Given the description of an element on the screen output the (x, y) to click on. 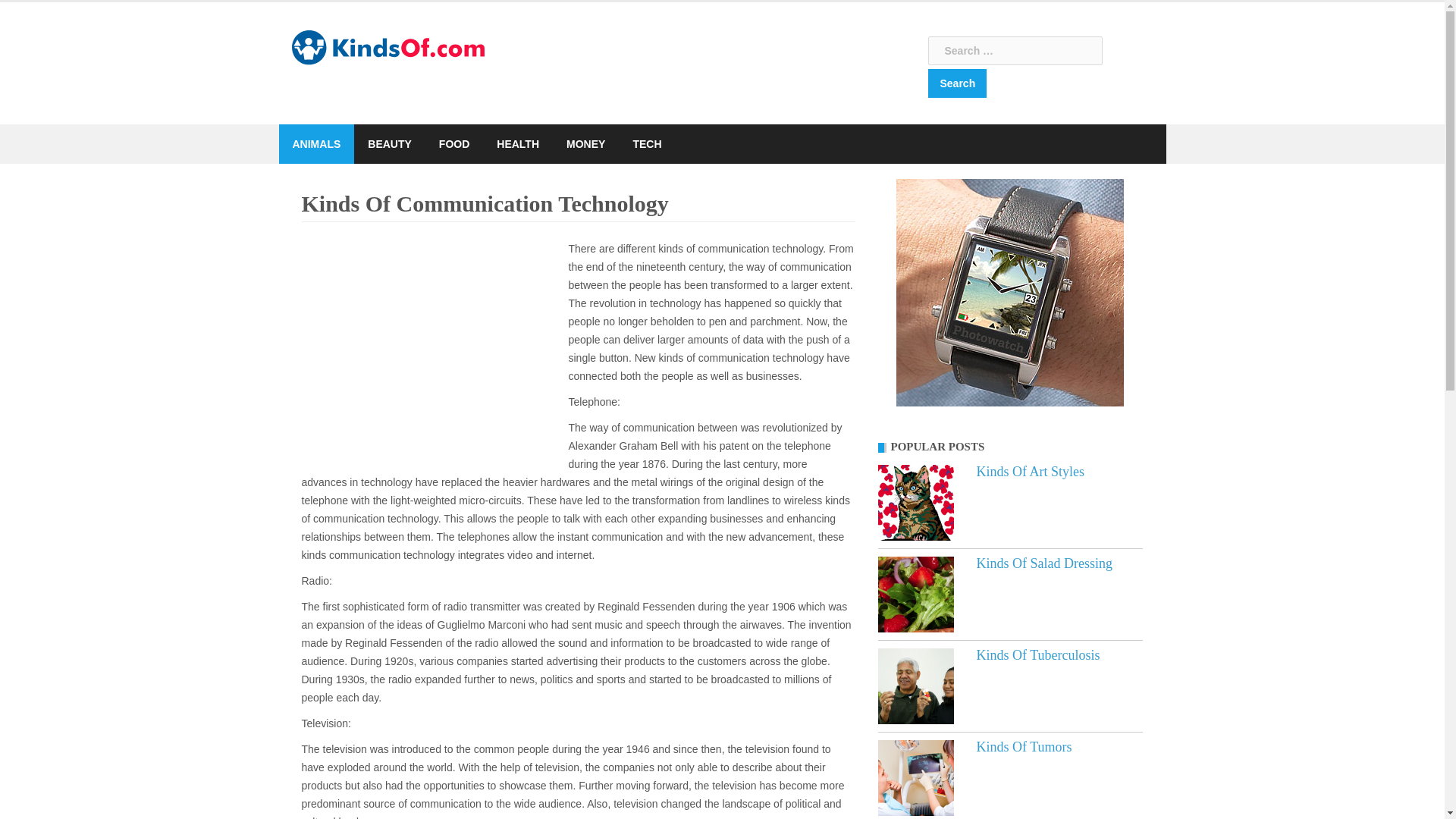
ANIMALS (316, 143)
HEALTH (517, 143)
Kinds Of Tumors (1023, 746)
MONEY (585, 143)
Search (957, 82)
Kinds Of Art Styles (915, 502)
BEAUTY (390, 143)
Kinds Of Salad Dressing (1044, 563)
Kinds Of Tuberculosis (915, 685)
TECH (646, 143)
Search (957, 82)
Kinds Of Tumors (1023, 746)
Search (957, 82)
FOOD (453, 143)
Kinds Of Tuberculosis (1038, 654)
